Given the description of an element on the screen output the (x, y) to click on. 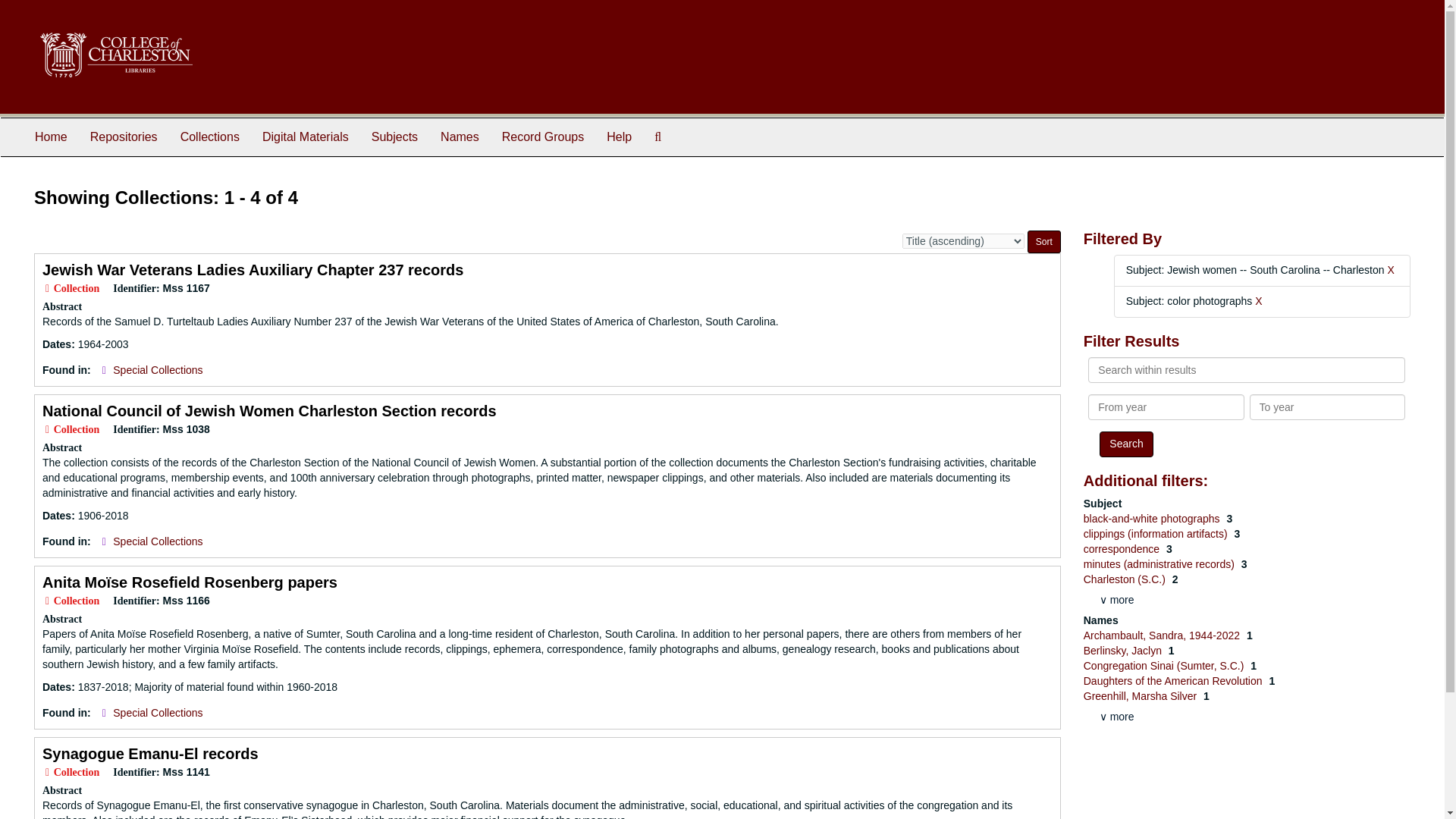
Names (459, 136)
Digital Materials (304, 136)
Special Collections (157, 541)
Special Collections (157, 712)
translation missing: en.Help (619, 136)
Jewish War Veterans Ladies Auxiliary Chapter 237 records (252, 269)
Sort (1044, 241)
Help (619, 136)
Sort (1044, 241)
Search (1126, 444)
Subjects (394, 136)
Filter By 'black-and-white photographs' (1153, 518)
Special Collections (157, 369)
Collections (209, 136)
correspondence (1122, 548)
